Given the description of an element on the screen output the (x, y) to click on. 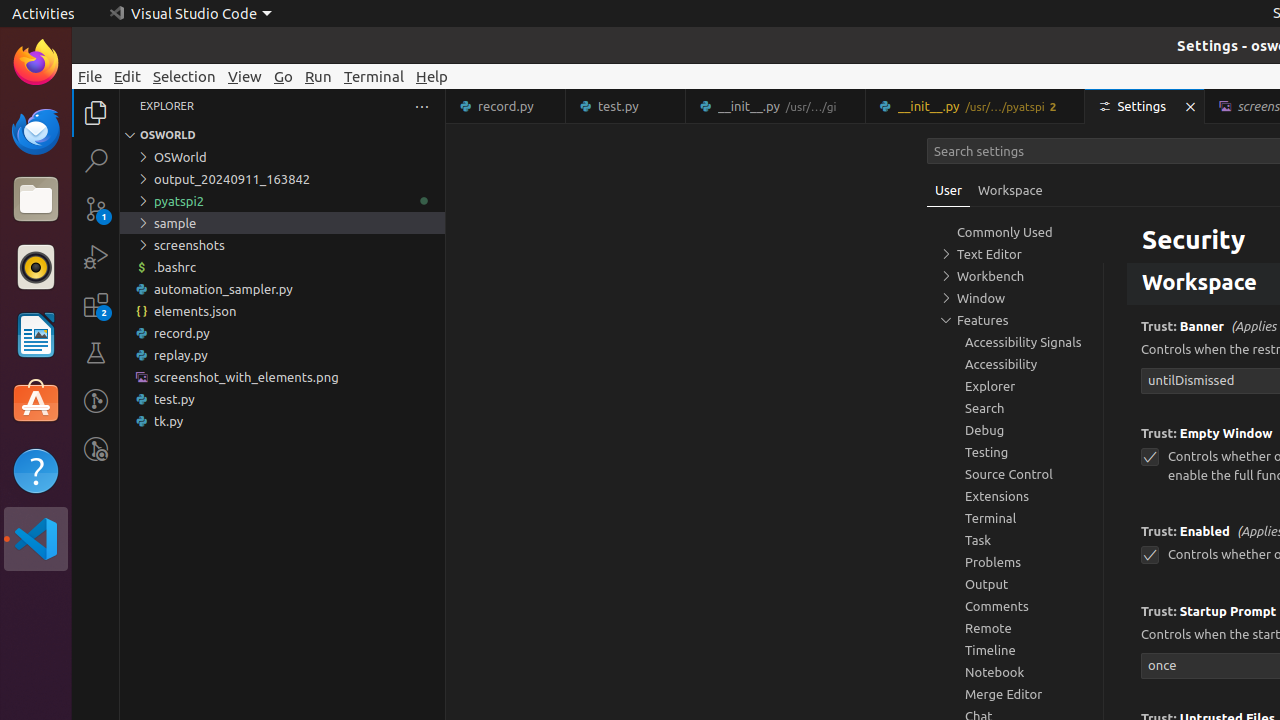
Extensions (Ctrl+Shift+X) - 2 require restart Extensions (Ctrl+Shift+X) - 2 require restart Element type: page-tab (96, 305)
Terminal, group Element type: tree-item (1015, 518)
